Given the description of an element on the screen output the (x, y) to click on. 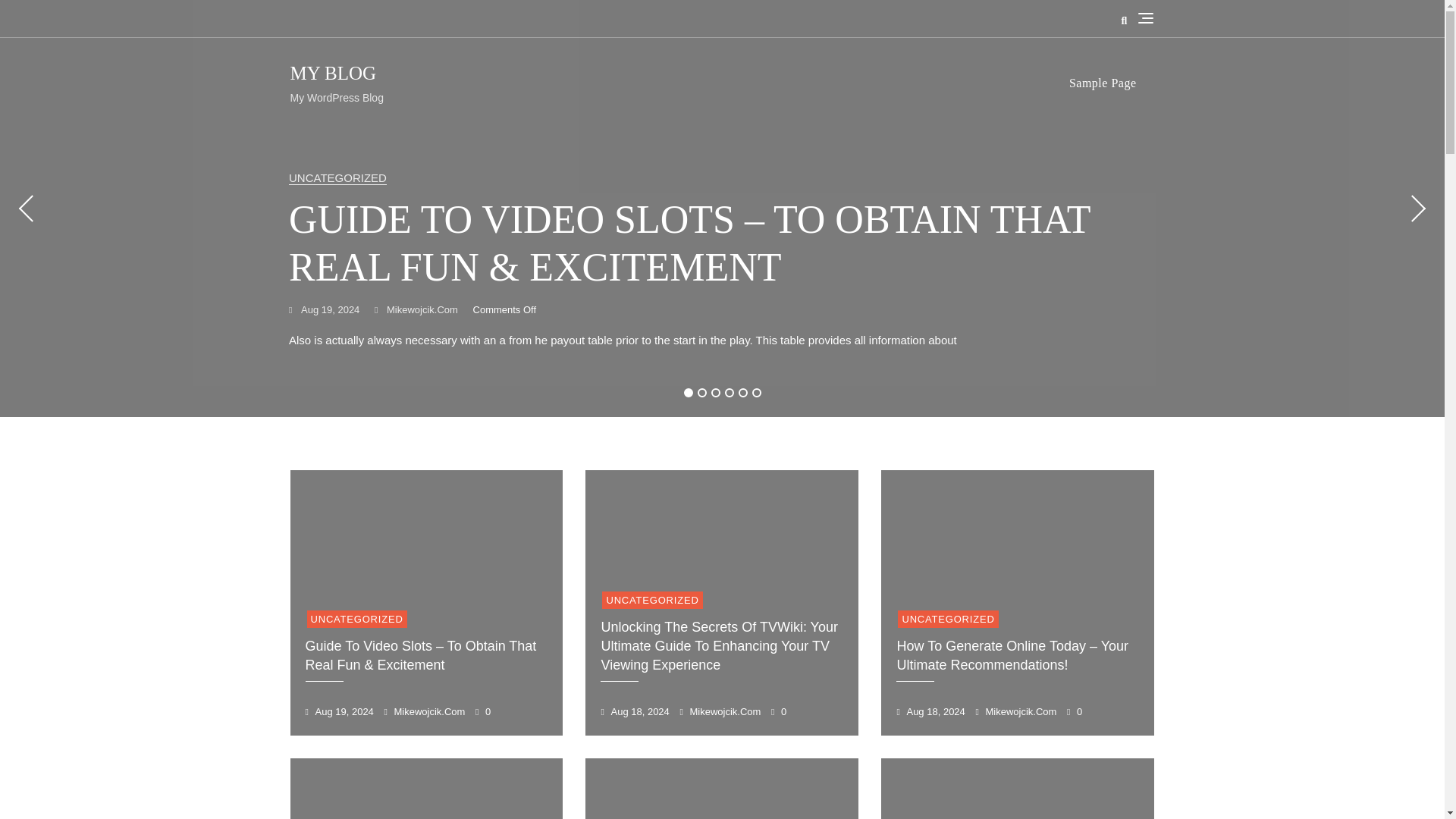
Sample Page (1111, 83)
Mikewojcik.Com (416, 310)
Aug 19, 2024 (323, 310)
MY BLOG (332, 73)
UNCATEGORIZED (337, 178)
